Given the description of an element on the screen output the (x, y) to click on. 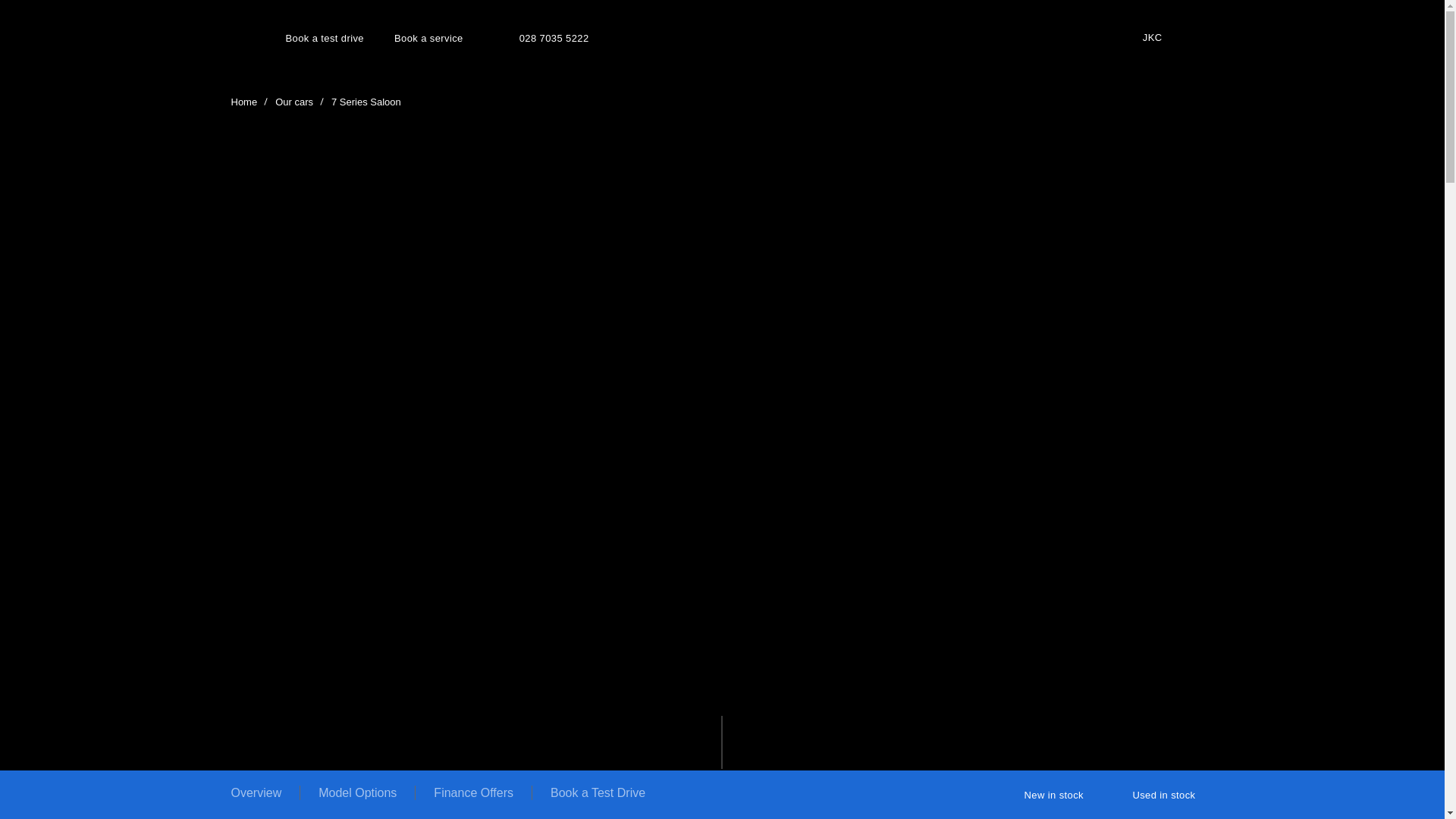
Book a service (428, 38)
028 7035 5222 (537, 33)
Menu control (237, 37)
JKC (1178, 37)
Book a test drive (323, 38)
